Given the description of an element on the screen output the (x, y) to click on. 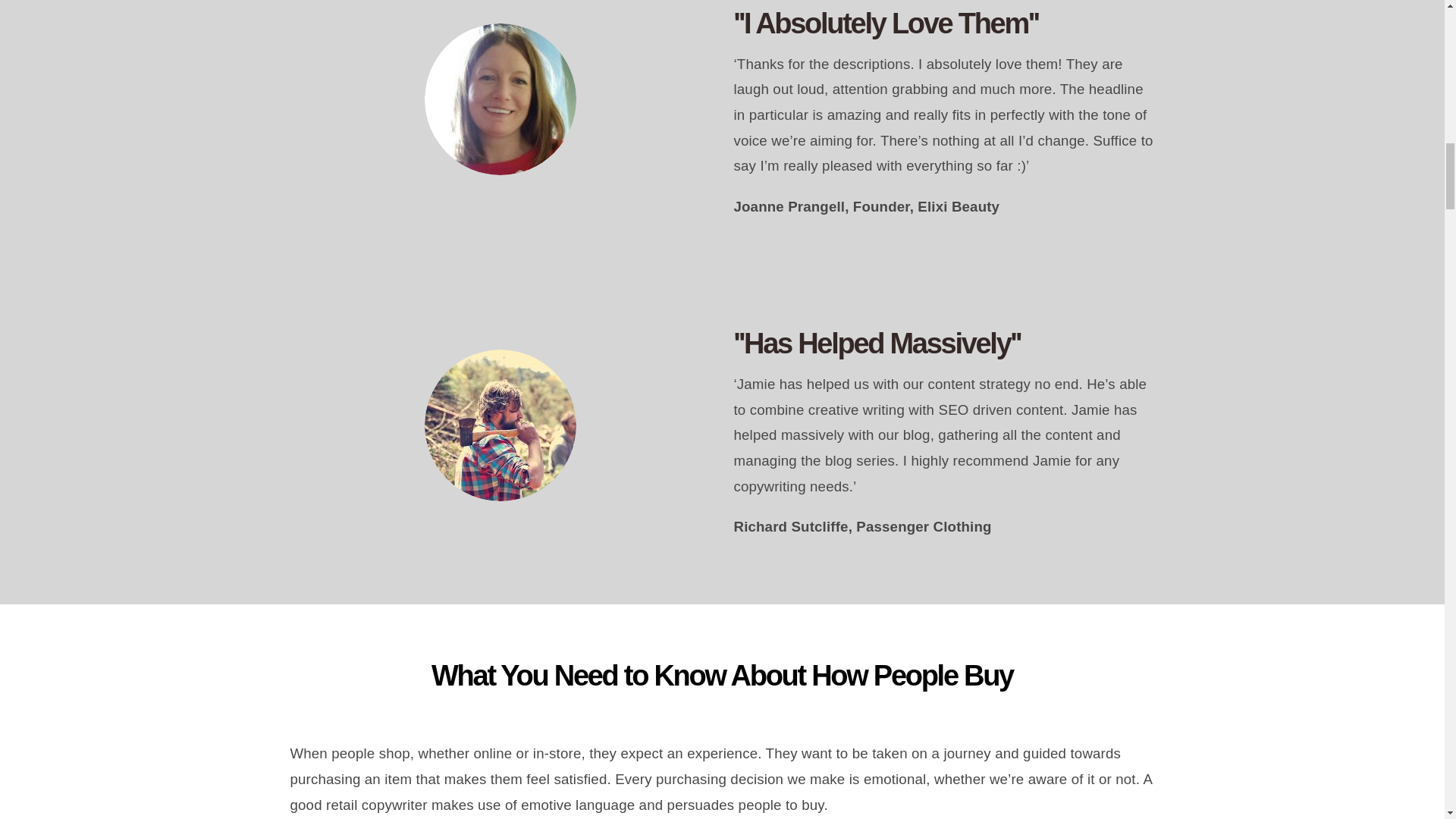
Richard Sutcliffe (500, 425)
joanne-prangell (500, 99)
''Has Helped Massively'' (943, 343)
''I Absolutely Love Them'' (943, 23)
What You Need to Know About How People Buy (721, 695)
